Given the description of an element on the screen output the (x, y) to click on. 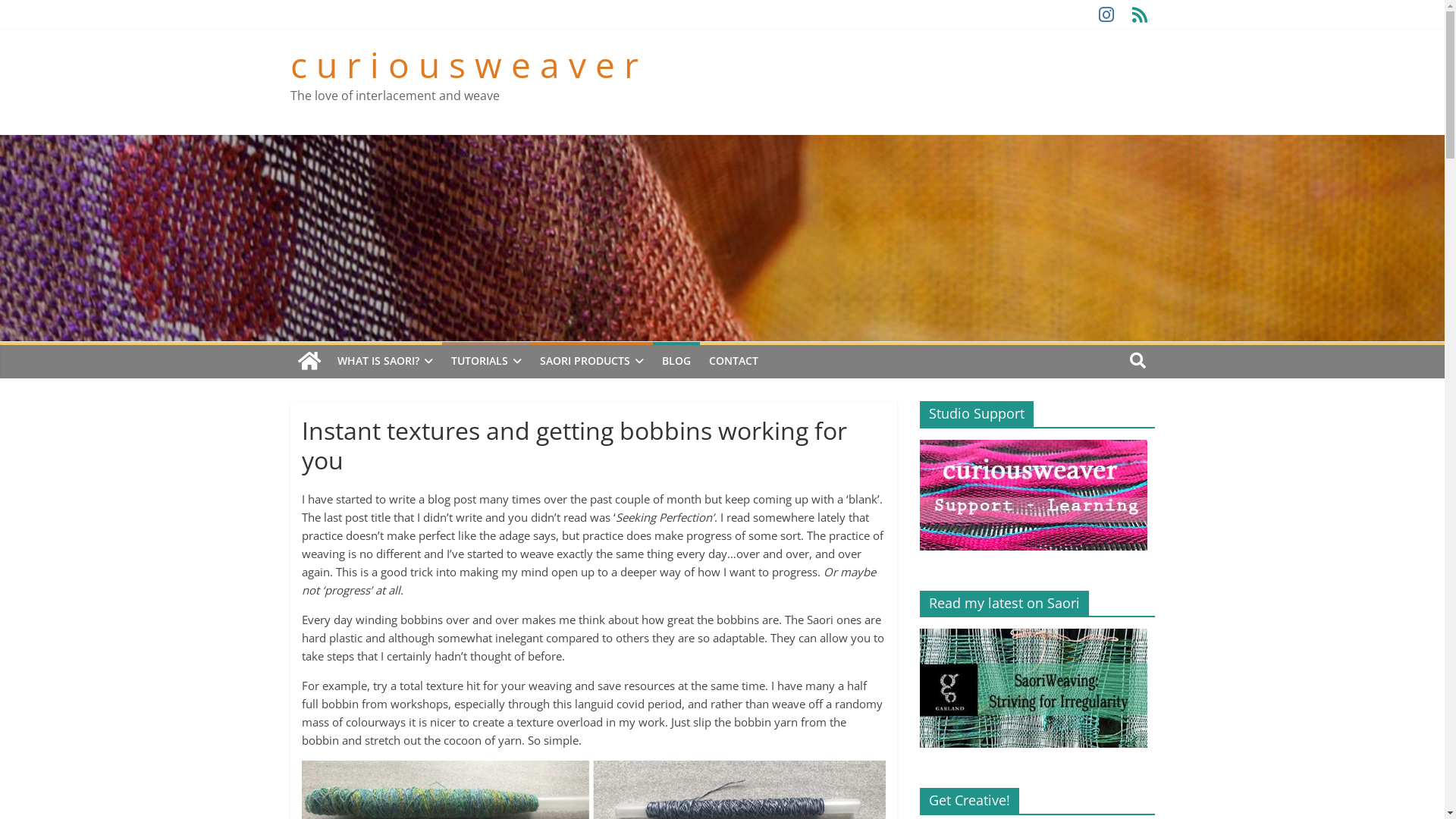
CONTACT Element type: text (732, 360)
BLOG Element type: text (675, 360)
c u r i o u s w e a v e r Element type: hover (308, 361)
c u r i o u s w e a v e r Element type: text (463, 63)
TUTORIALS Element type: text (485, 360)
SAORI PRODUCTS Element type: text (591, 360)
WHAT IS SAORI? Element type: text (384, 360)
